Given the description of an element on the screen output the (x, y) to click on. 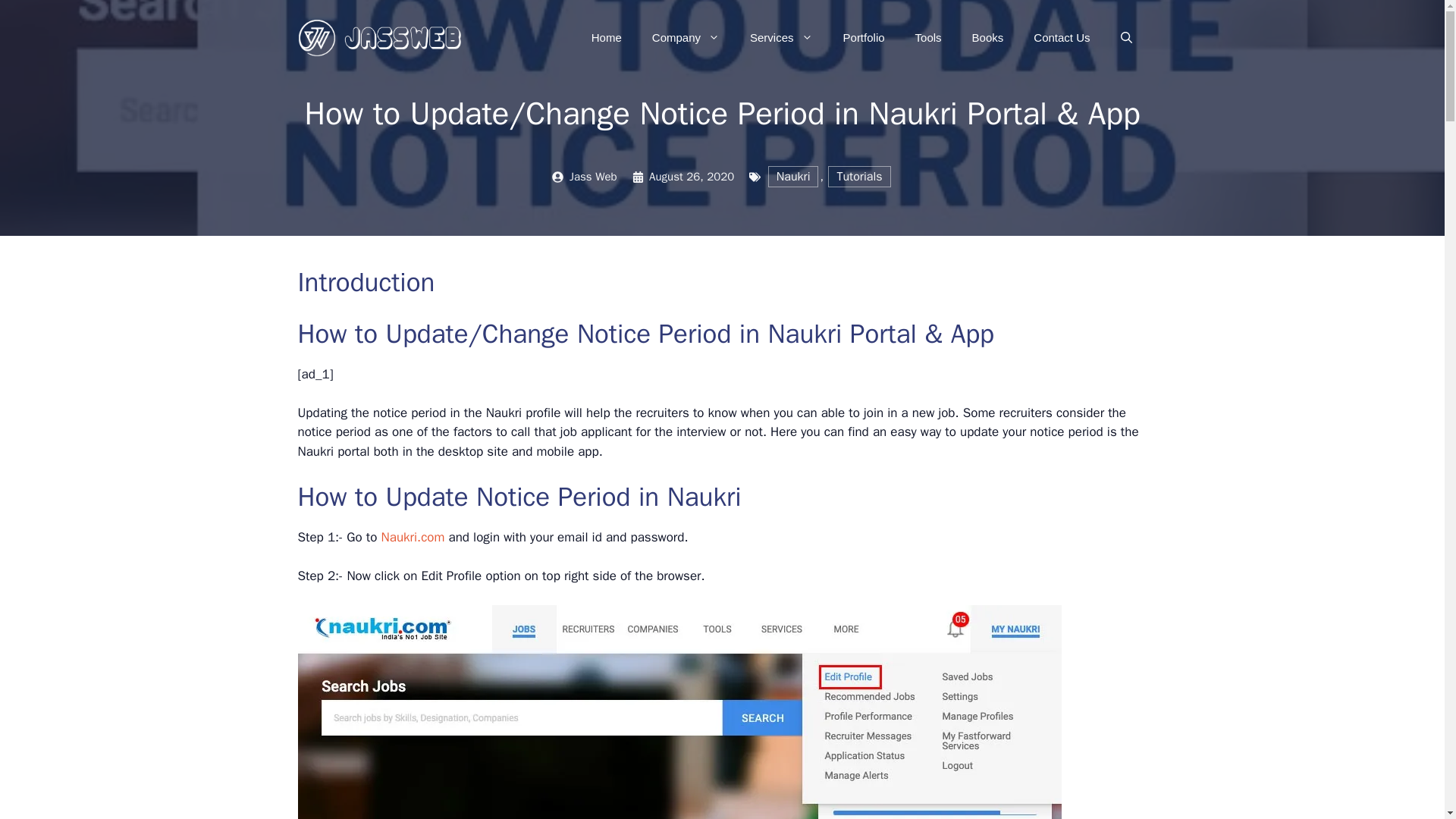
Tools (927, 37)
Books (987, 37)
Company (686, 37)
Portfolio (863, 37)
Jassweb (380, 37)
Contact Us (1061, 37)
Naukri.com (413, 537)
Naukri (793, 176)
Home (606, 37)
Services (781, 37)
Jassweb (380, 36)
Tutorials (858, 176)
